Given the description of an element on the screen output the (x, y) to click on. 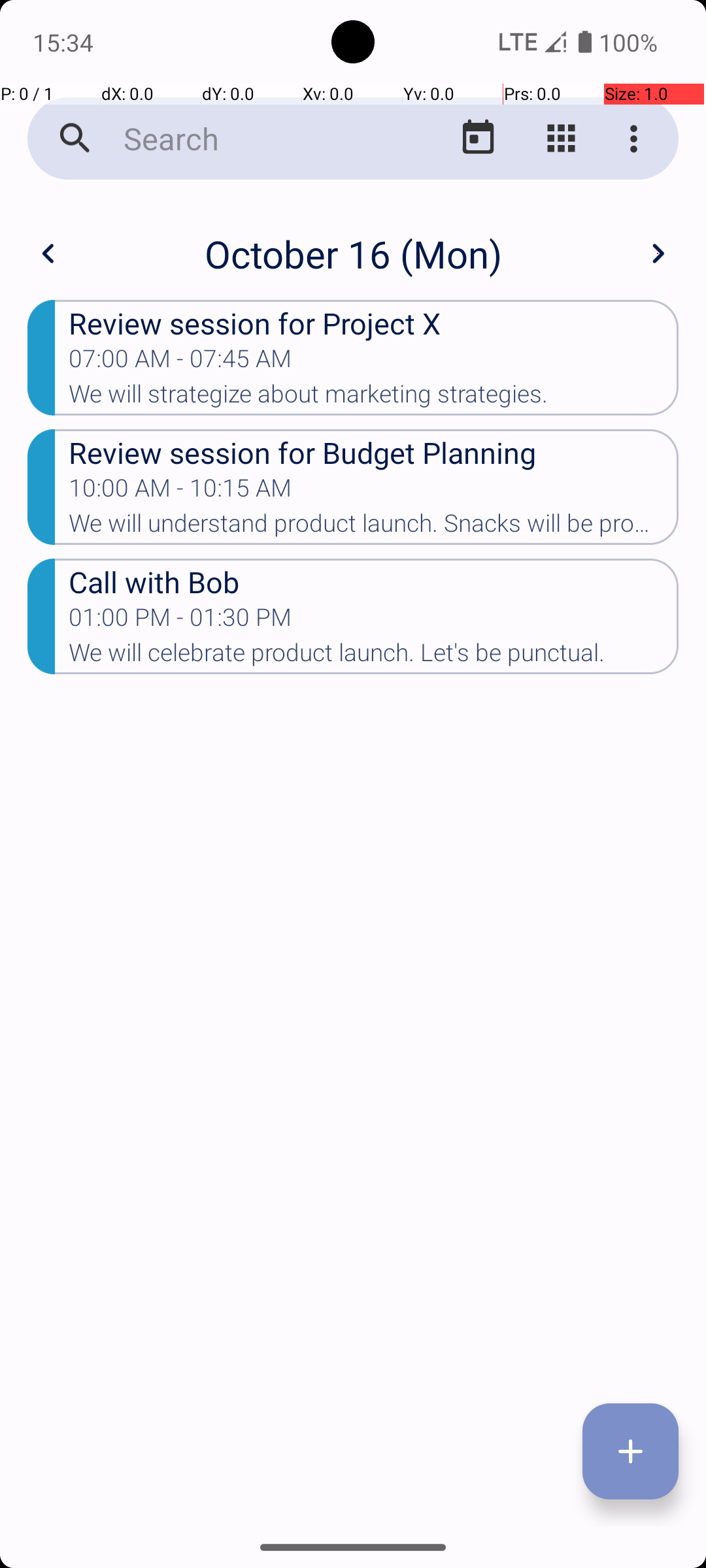
Review session for Project X Element type: android.widget.TextView (373, 321)
07:00 AM - 07:45 AM Element type: android.widget.TextView (179, 362)
We will strategize about marketing strategies. Element type: android.widget.TextView (373, 397)
10:00 AM - 10:15 AM Element type: android.widget.TextView (179, 491)
We will understand product launch. Snacks will be provided. Element type: android.widget.TextView (373, 526)
Call with Bob Element type: android.widget.TextView (373, 580)
01:00 PM - 01:30 PM Element type: android.widget.TextView (179, 620)
We will celebrate product launch. Let's be punctual. Element type: android.widget.TextView (373, 656)
